Given the description of an element on the screen output the (x, y) to click on. 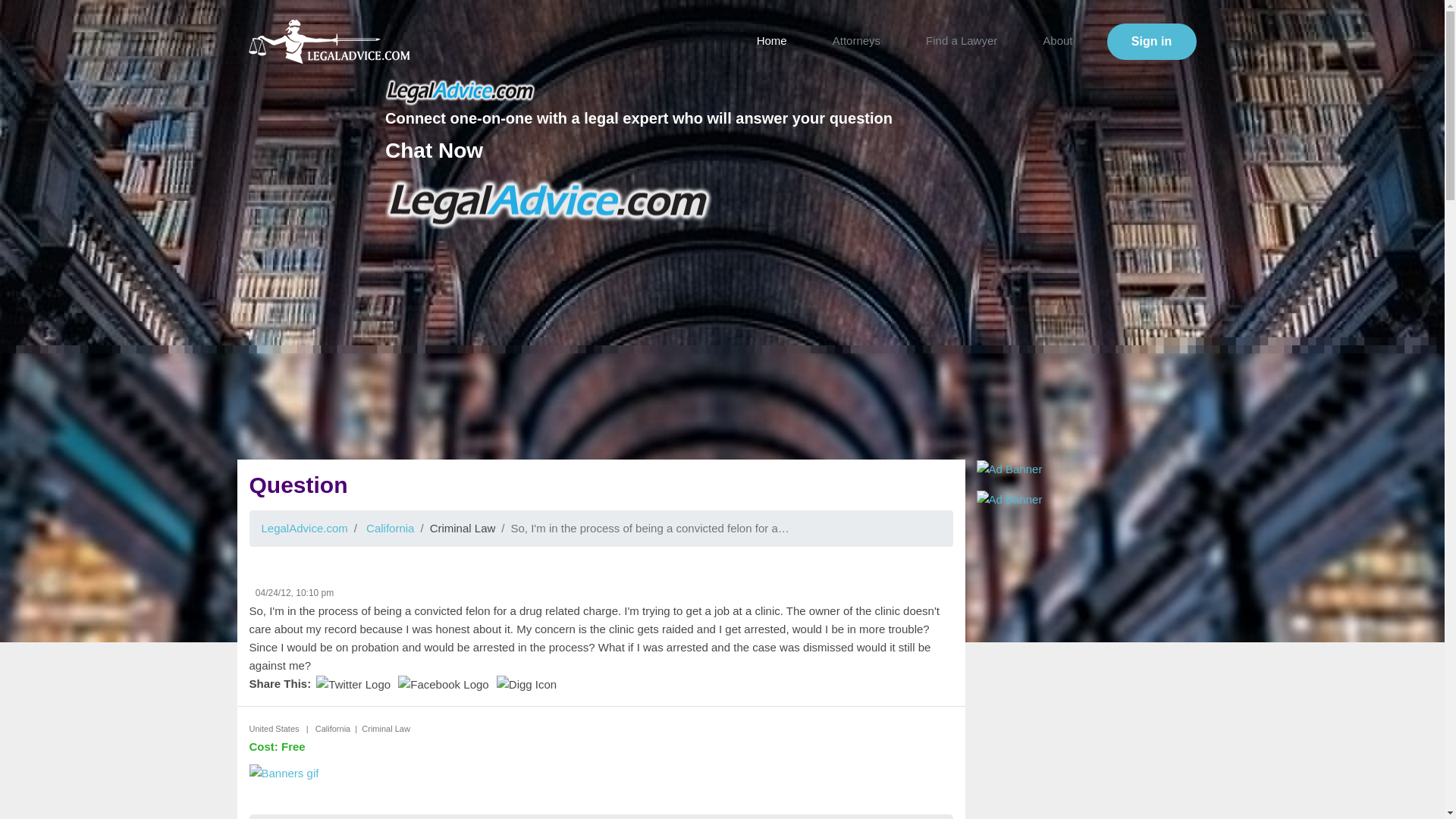
About (1056, 39)
Sign in (1151, 40)
LegalAdvice.com (303, 527)
California (389, 527)
Attorneys (856, 39)
Chat Now (434, 150)
Free Legal Advice (549, 204)
Find a Lawyer (961, 39)
Home (772, 39)
Criminal Law (462, 527)
Enter LegalAdvice.com (1151, 40)
